Given the description of an element on the screen output the (x, y) to click on. 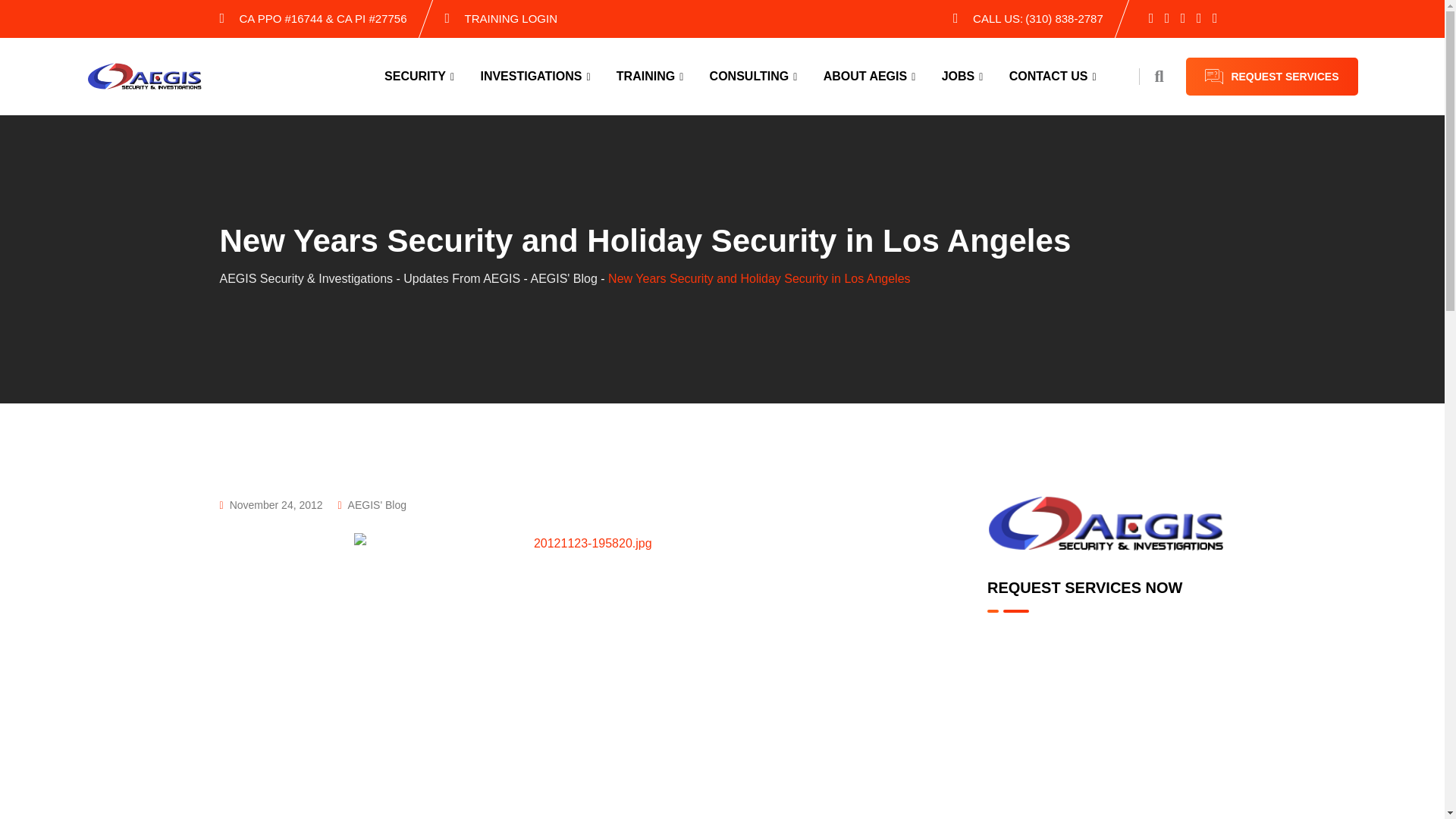
SECURITY (420, 76)
Go to the AEGIS' Blog Category archives. (562, 278)
Sidebar Form (1106, 689)
TRAINING LOGIN (510, 18)
event security los angeles (586, 676)
Go to Updates from AEGIS. (461, 278)
